Given the description of an element on the screen output the (x, y) to click on. 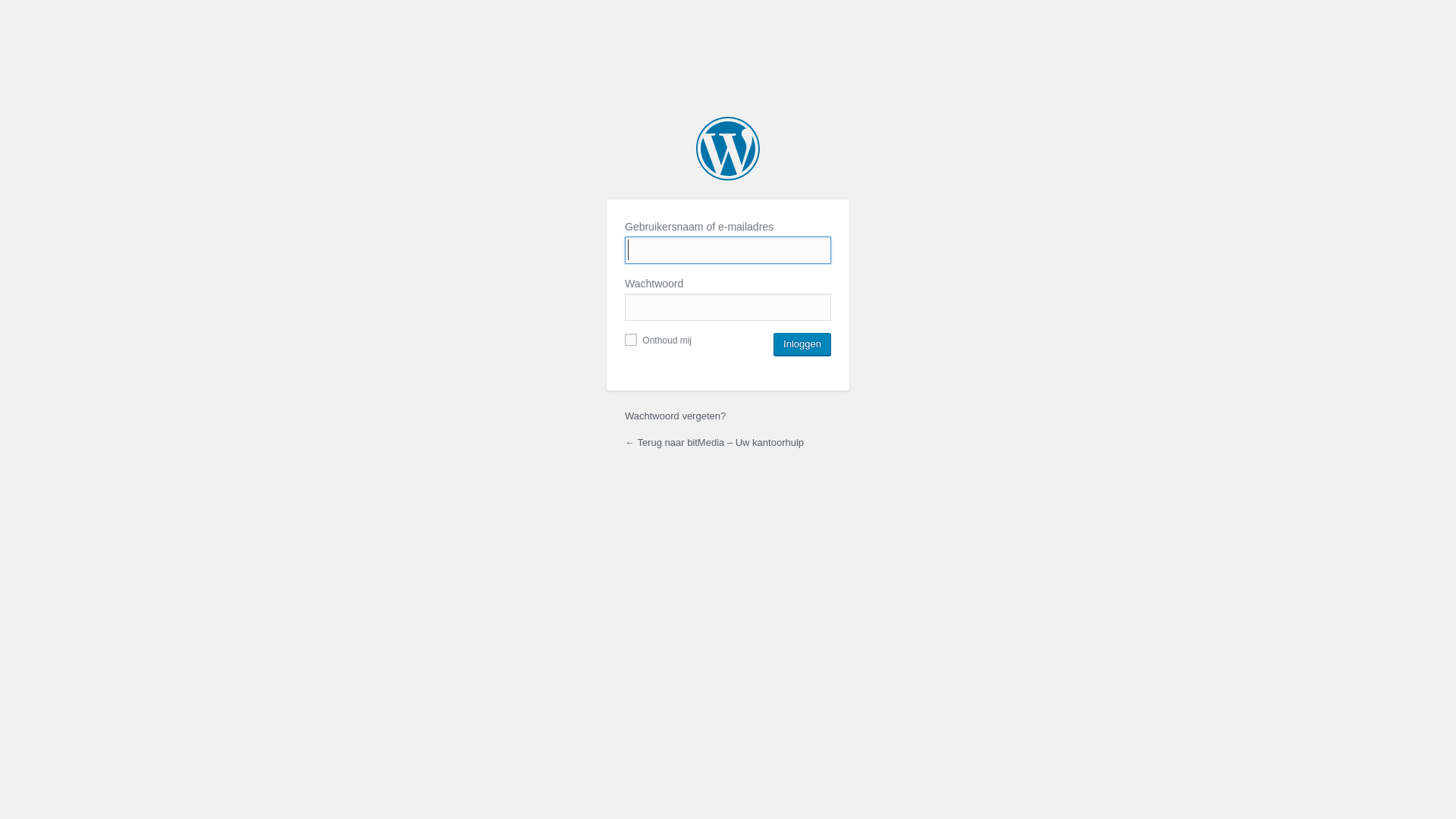
Wachtwoord vergeten? Element type: text (674, 415)
Inloggen Element type: text (802, 343)
Mogelijk gemaakt door WordPress Element type: text (727, 148)
